Given the description of an element on the screen output the (x, y) to click on. 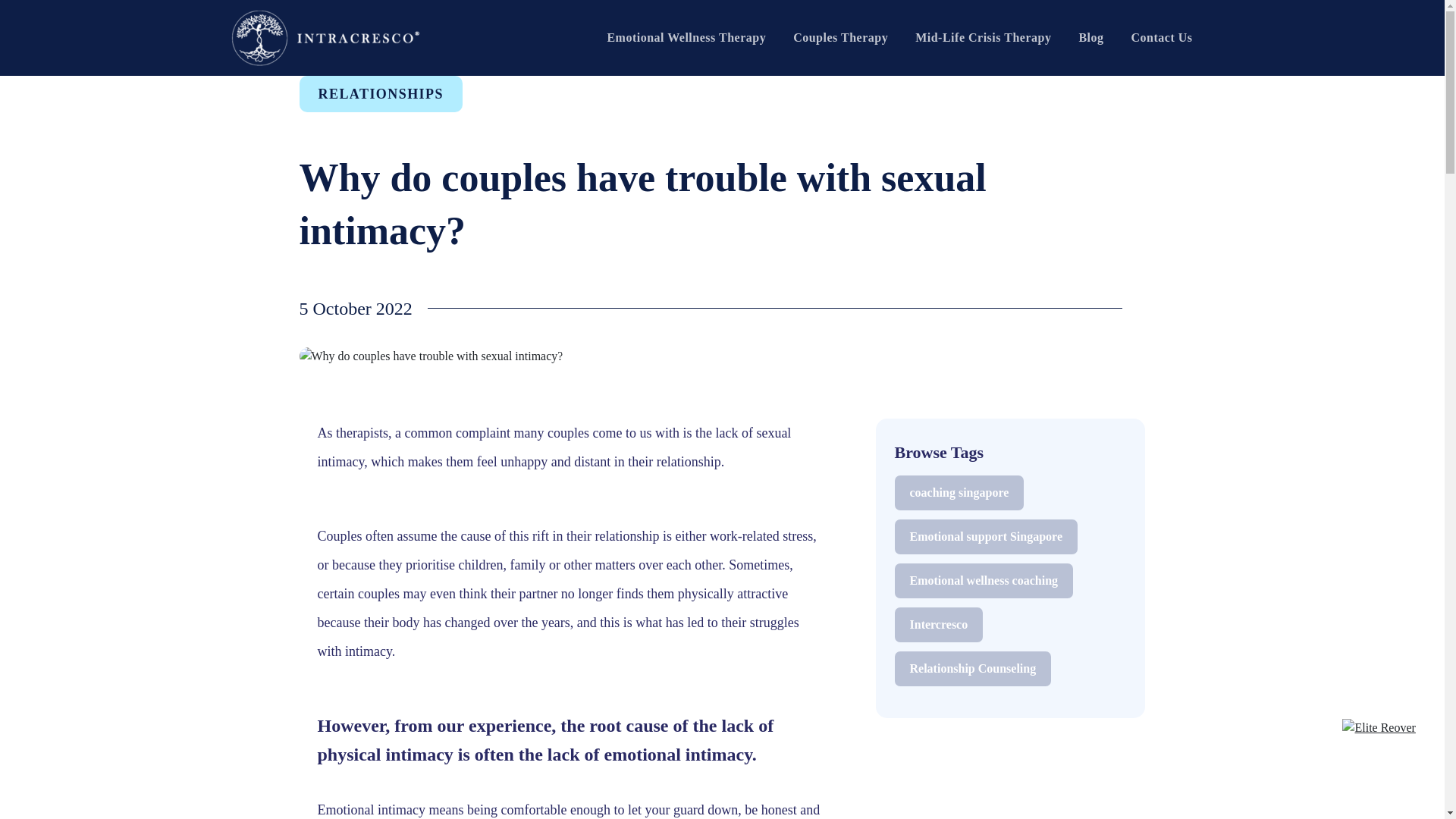
coaching singapore (960, 492)
Couples Therapy (840, 37)
Emotional wellness coaching (984, 580)
Emotional Wellness Therapy (685, 37)
Relationship Counseling (973, 668)
RELATIONSHIPS (379, 94)
Emotional support Singapore (986, 536)
Relationship Counseling (973, 668)
Intercresco (939, 624)
Mid-Life Crisis Therapy (982, 37)
Contact Us (1161, 37)
Blog (1090, 37)
coaching singapore (960, 492)
Intercresco (939, 624)
Emotional wellness coaching (984, 580)
